Given the description of an element on the screen output the (x, y) to click on. 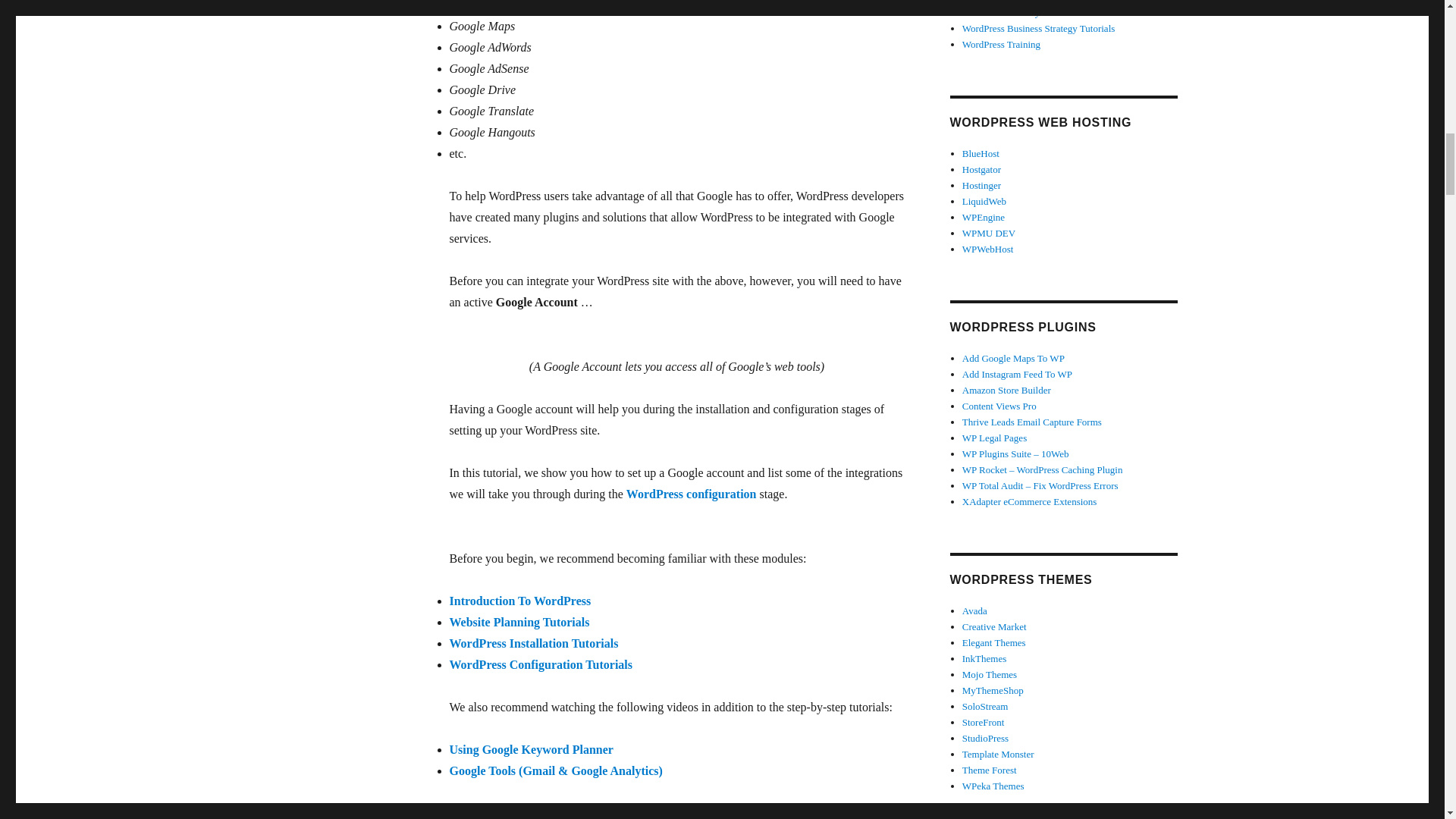
WordPress Configuration Tutorials (539, 664)
Website Planning Tutorials (518, 621)
Using Google Keyword Planner (530, 748)
WPTrainMe.com (827, 812)
Introduction To WordPress (519, 600)
WordPress configuration (691, 493)
WordPress Installation Tutorials (532, 643)
